Given the description of an element on the screen output the (x, y) to click on. 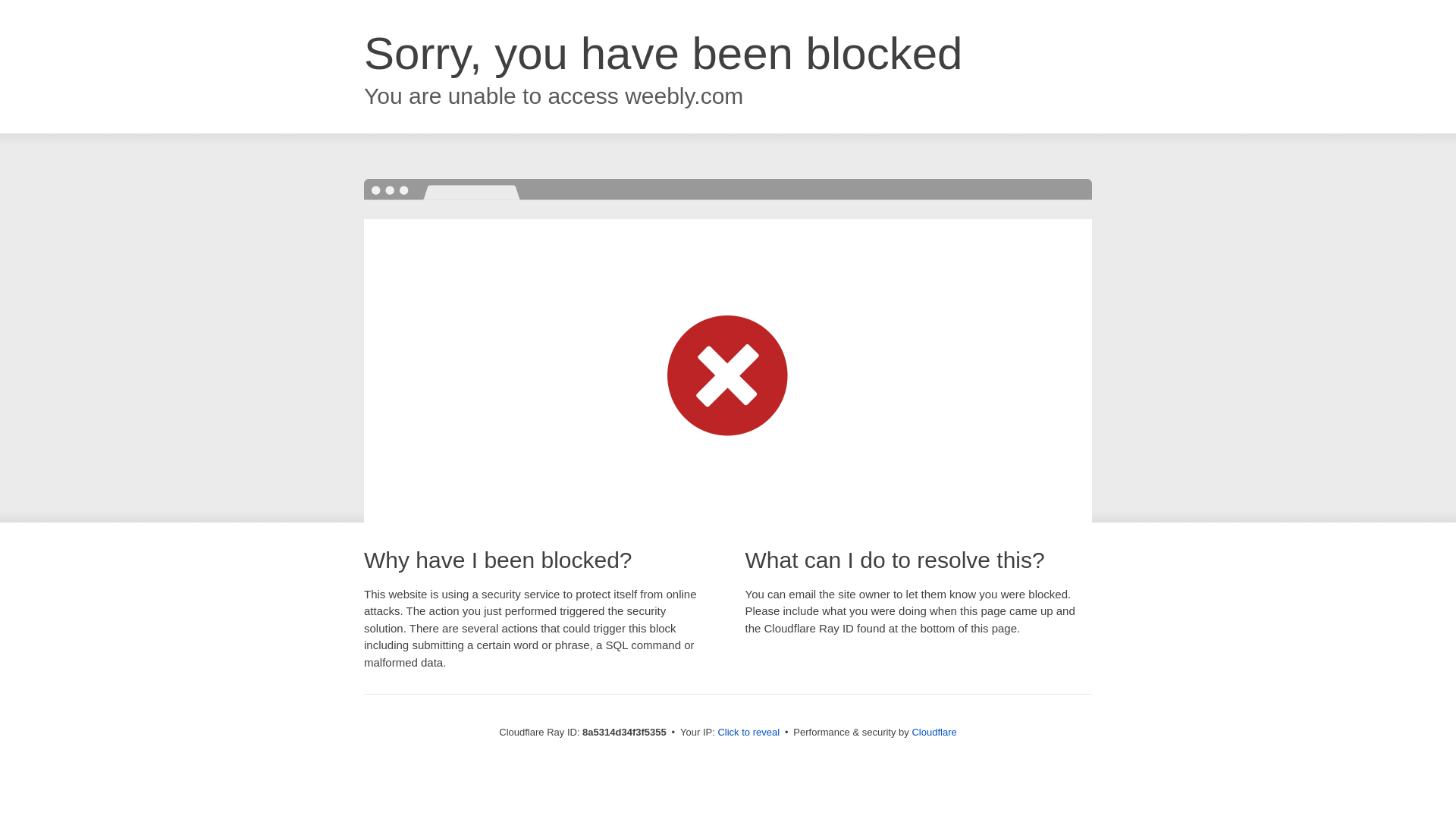
Cloudflare (933, 731)
Click to reveal (747, 732)
